Given the description of an element on the screen output the (x, y) to click on. 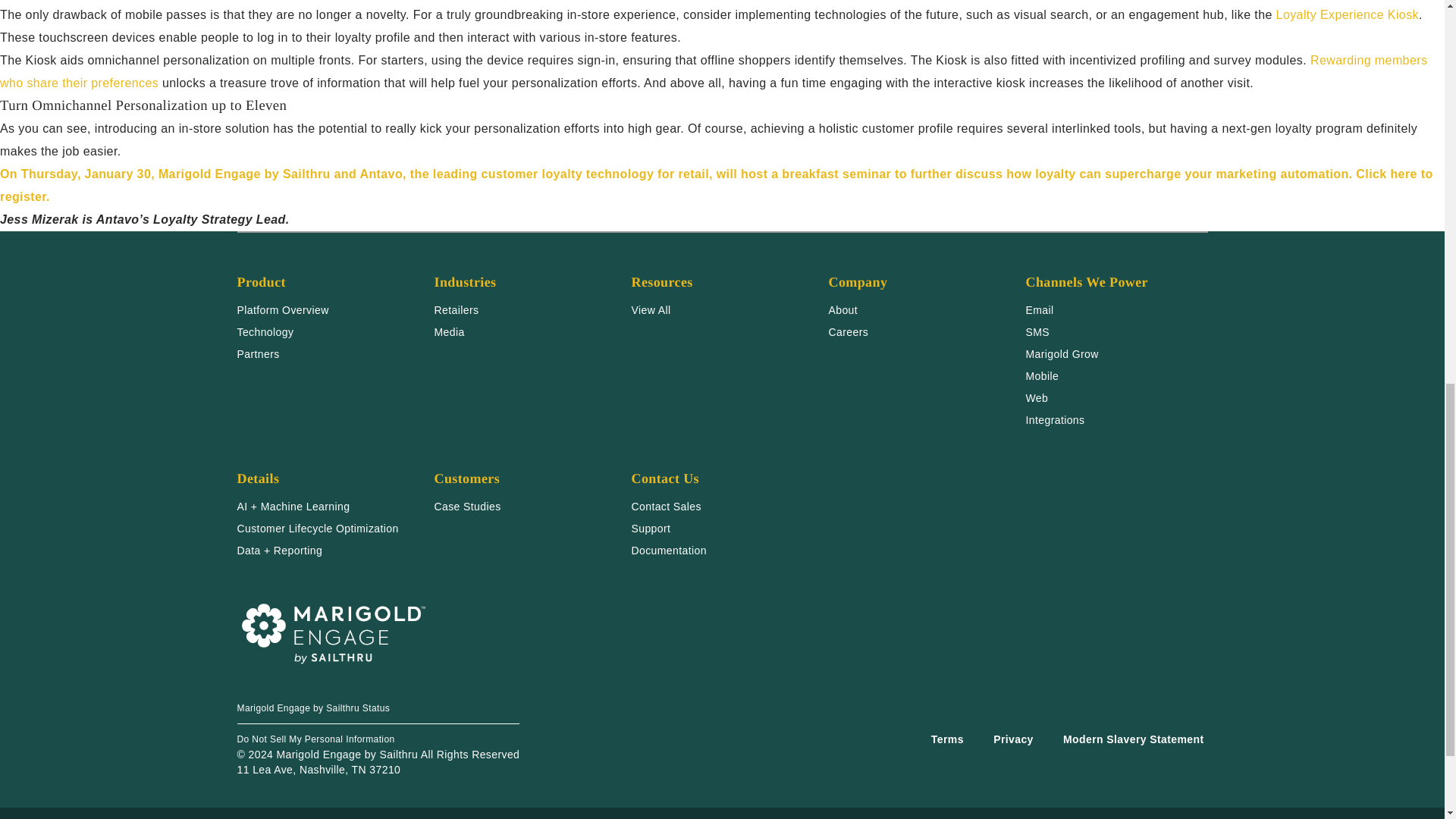
Rewarding members who share their preferences (713, 71)
Platform Overview (282, 309)
Technology (264, 331)
Loyalty Experience Kiosk (1347, 14)
